Given the description of an element on the screen output the (x, y) to click on. 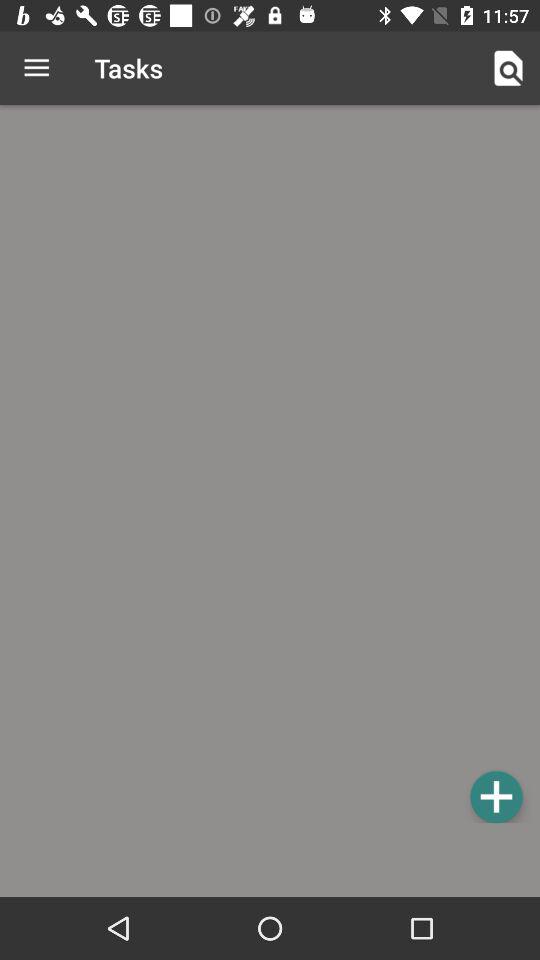
add new (496, 796)
